Given the description of an element on the screen output the (x, y) to click on. 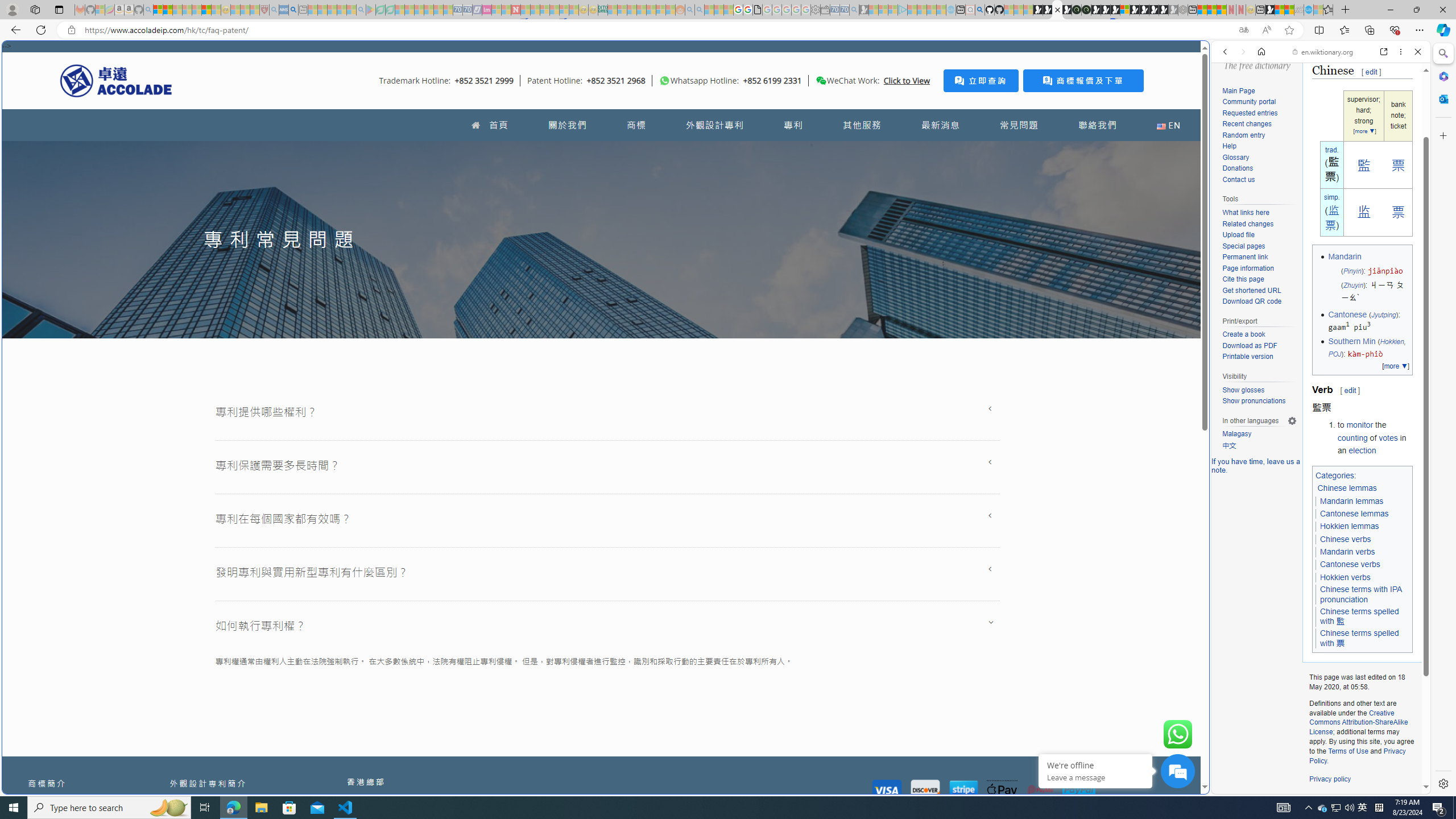
Bluey: Let's Play! - Apps on Google Play - Sleeping (370, 9)
bank note; ticket (1397, 115)
This page was last edited on 18 May 2020, at 05:58. (1361, 682)
Creative Commons Attribution-ShareAlike License (1357, 722)
Recent changes (1259, 124)
Settings - Sleeping (815, 9)
EN (1168, 124)
Pinyin (1351, 270)
